Given the description of an element on the screen output the (x, y) to click on. 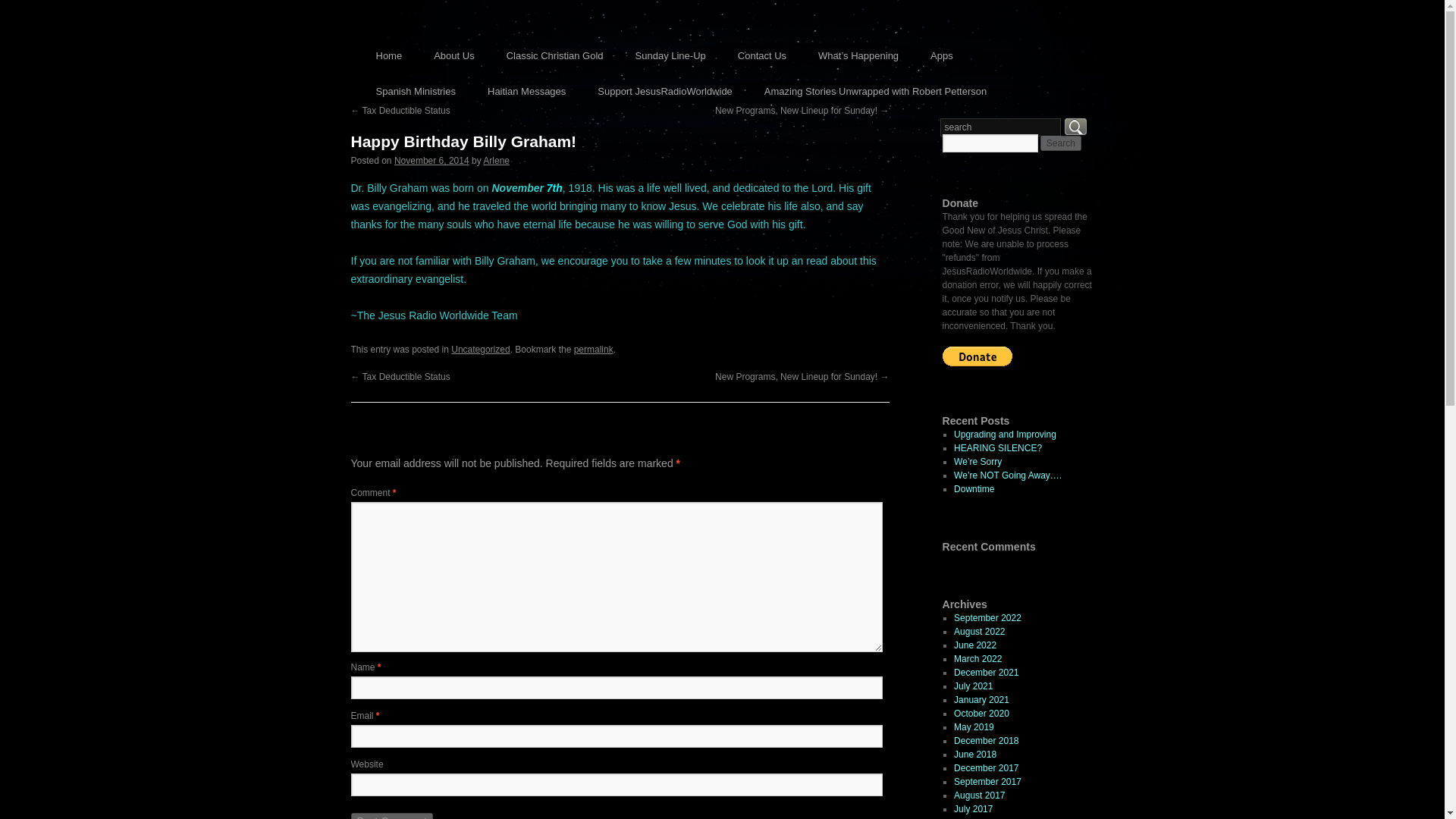
Home (388, 55)
Sunday Line-Up (671, 55)
Classic Christian Gold (555, 55)
Arlene (496, 160)
About Us (453, 55)
Haitian Messages (525, 90)
Search (1061, 142)
Uncategorized (480, 348)
November 6, 2014 (431, 160)
2:33 pm (431, 160)
View all posts by Arlene (496, 160)
Amazing Stories Unwrapped with Robert Petterson (875, 90)
Contact Us (762, 55)
Apps (941, 55)
Support JesusRadioWorldwide (664, 90)
